Given the description of an element on the screen output the (x, y) to click on. 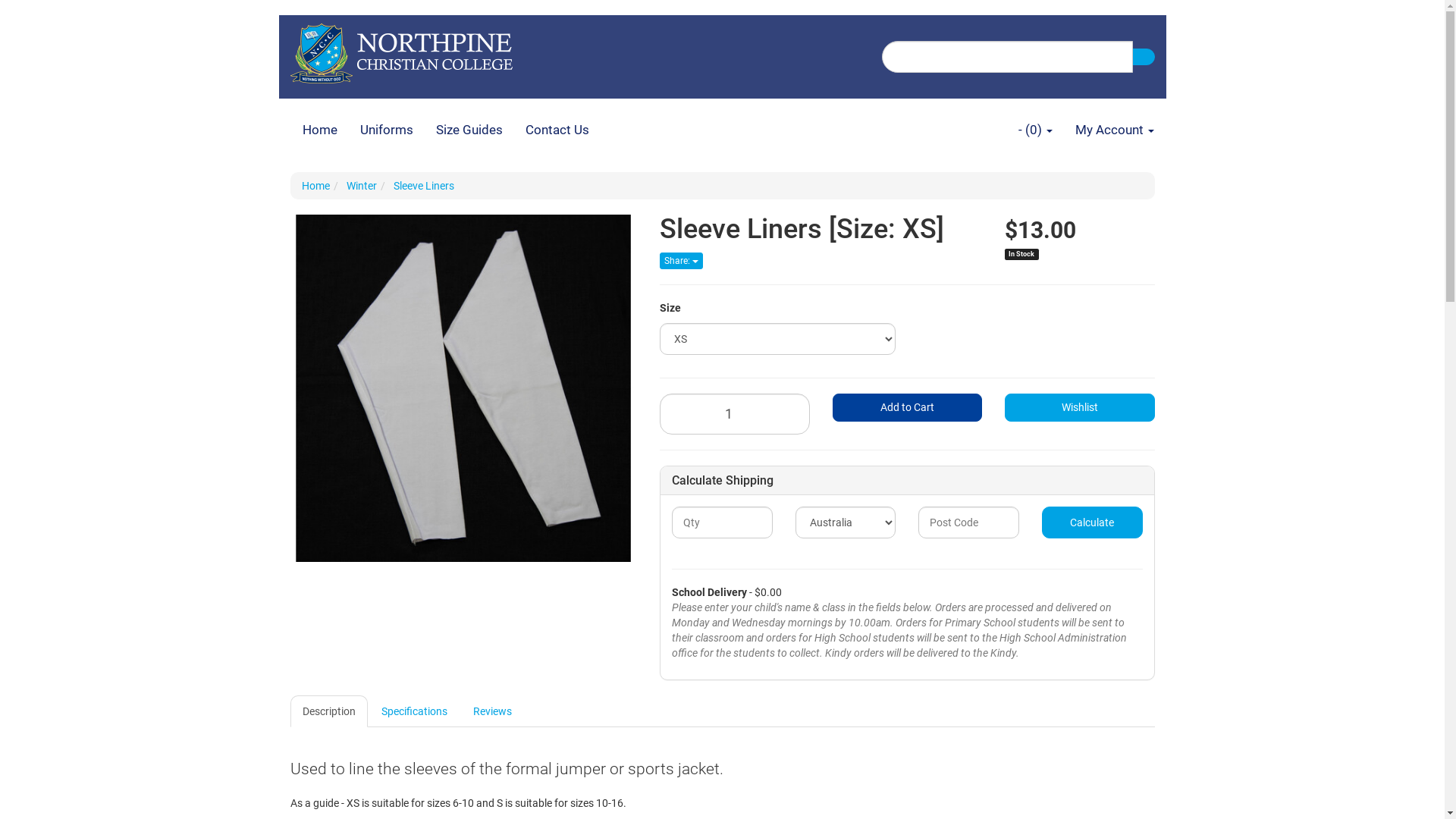
Winter Element type: text (360, 185)
Add to Cart Element type: text (907, 407)
Northpine Christian College Element type: hover (400, 48)
Wishlist Element type: text (1079, 407)
Size Guides Element type: text (469, 129)
- (0) Element type: text (1035, 129)
Share: Element type: text (680, 260)
My Account Element type: text (1113, 129)
Home Element type: text (319, 129)
Uniforms Element type: text (386, 129)
Description Element type: text (328, 711)
Sleeve Liners Element type: text (422, 185)
Home Element type: text (315, 185)
Reviews Element type: text (492, 711)
Search Element type: text (1142, 56)
Specifications Element type: text (413, 711)
Calculate Element type: text (1091, 522)
Contact Us Element type: text (557, 129)
